Given the description of an element on the screen output the (x, y) to click on. 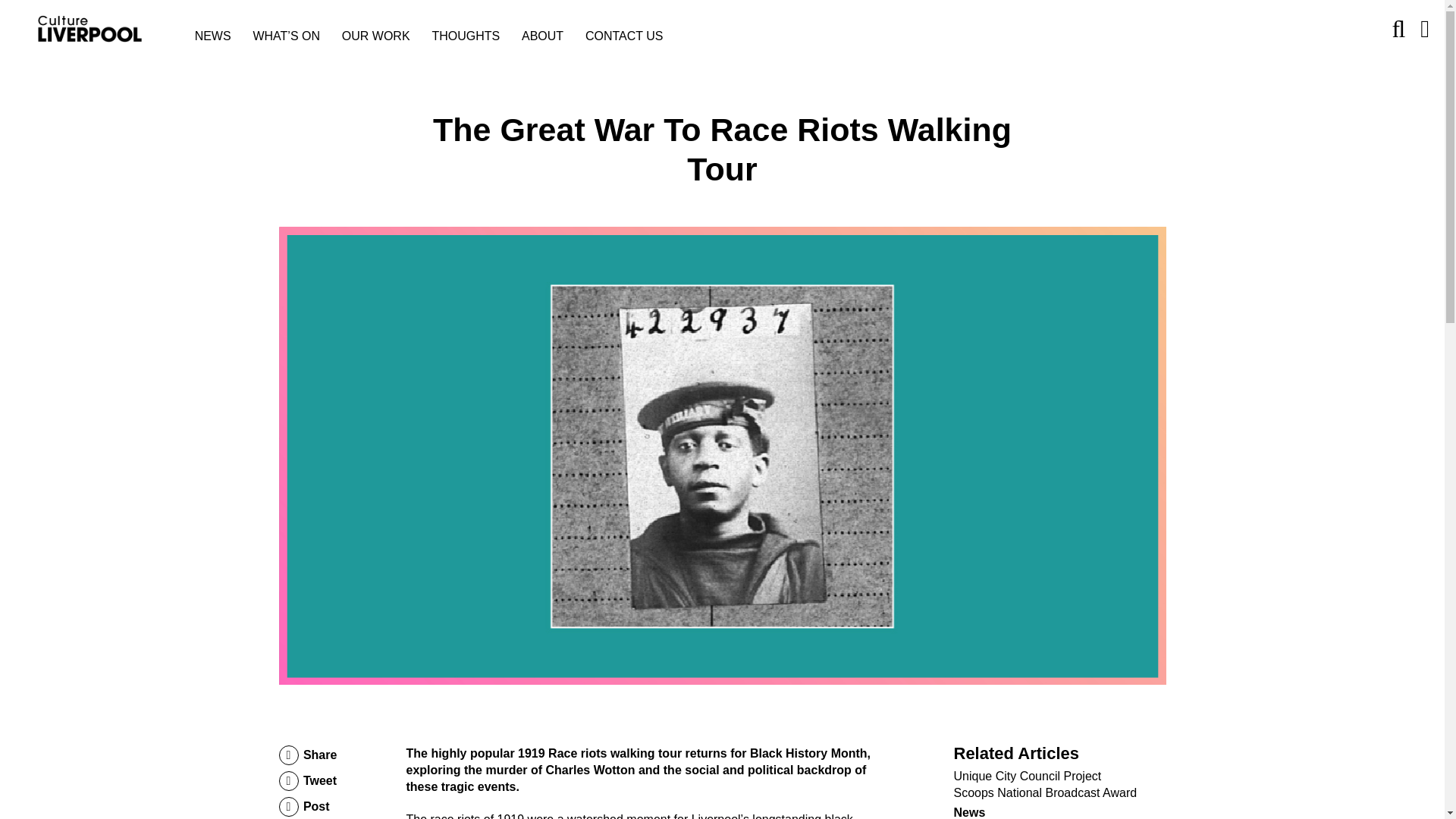
OUR WORK (376, 35)
Share (308, 754)
ABOUT (542, 35)
Unique City Council Project Scoops National Broadcast Award (1045, 784)
NEWS (213, 35)
Culture Liverpool (104, 28)
News (969, 812)
Tweet (308, 781)
CONTACT US (624, 35)
Post (308, 806)
